Given the description of an element on the screen output the (x, y) to click on. 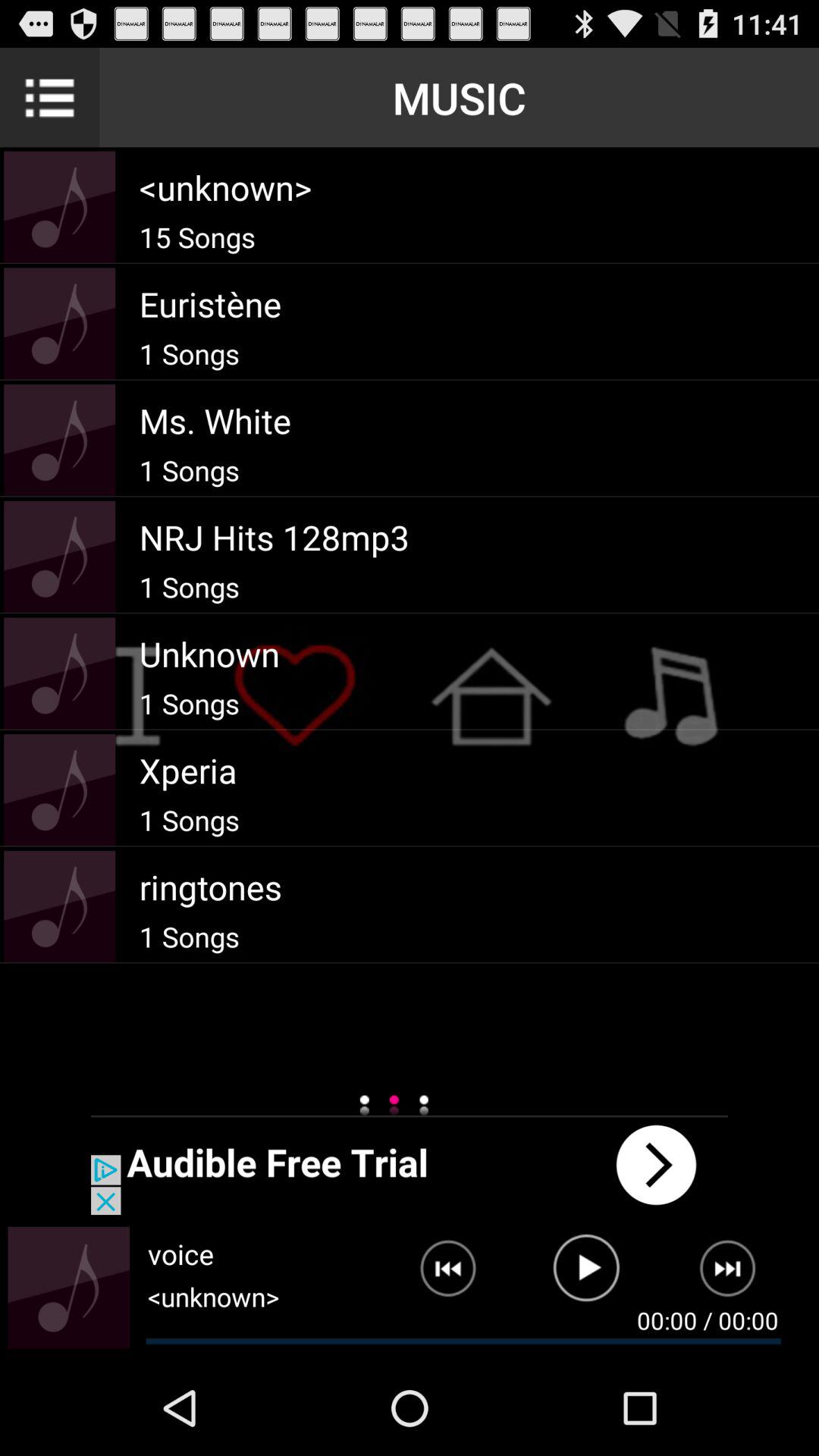
next (737, 1274)
